Given the description of an element on the screen output the (x, y) to click on. 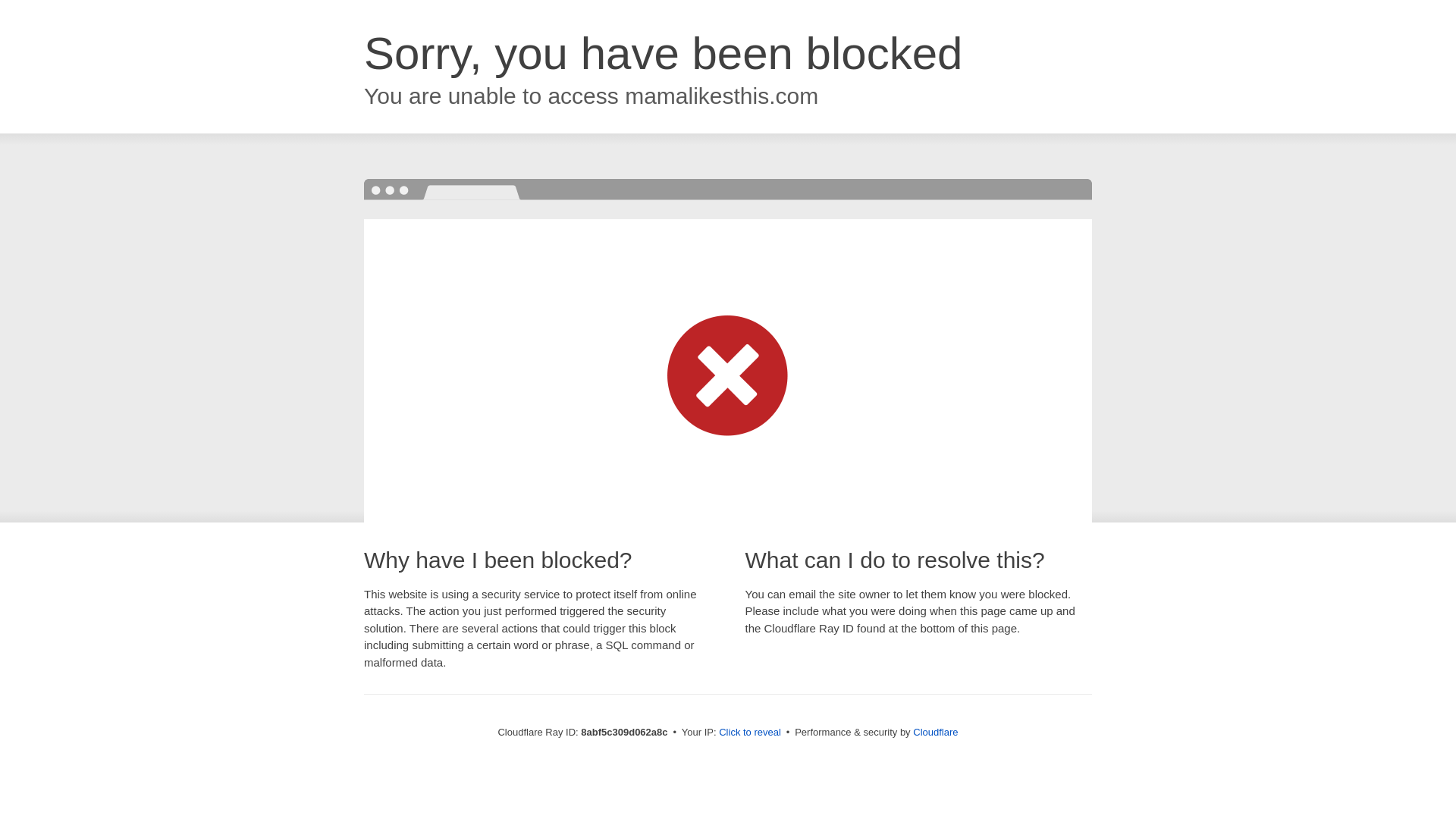
Click to reveal (749, 732)
Cloudflare (935, 731)
